Given the description of an element on the screen output the (x, y) to click on. 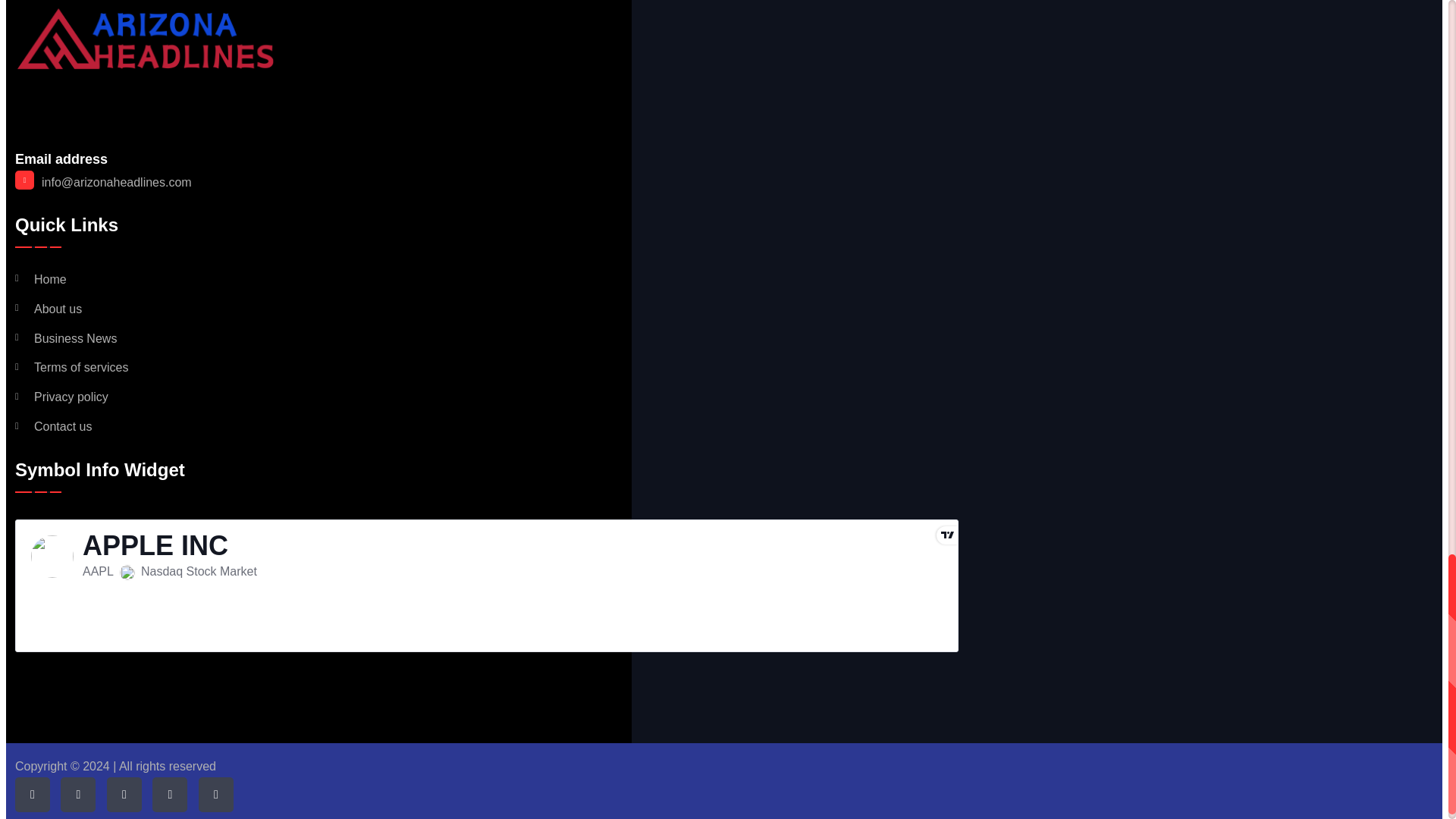
Business News (65, 339)
Contact us (52, 427)
Home (40, 279)
Privacy policy (60, 397)
symbol info TradingView widget (486, 585)
About us (47, 309)
Terms of services (71, 368)
